Given the description of an element on the screen output the (x, y) to click on. 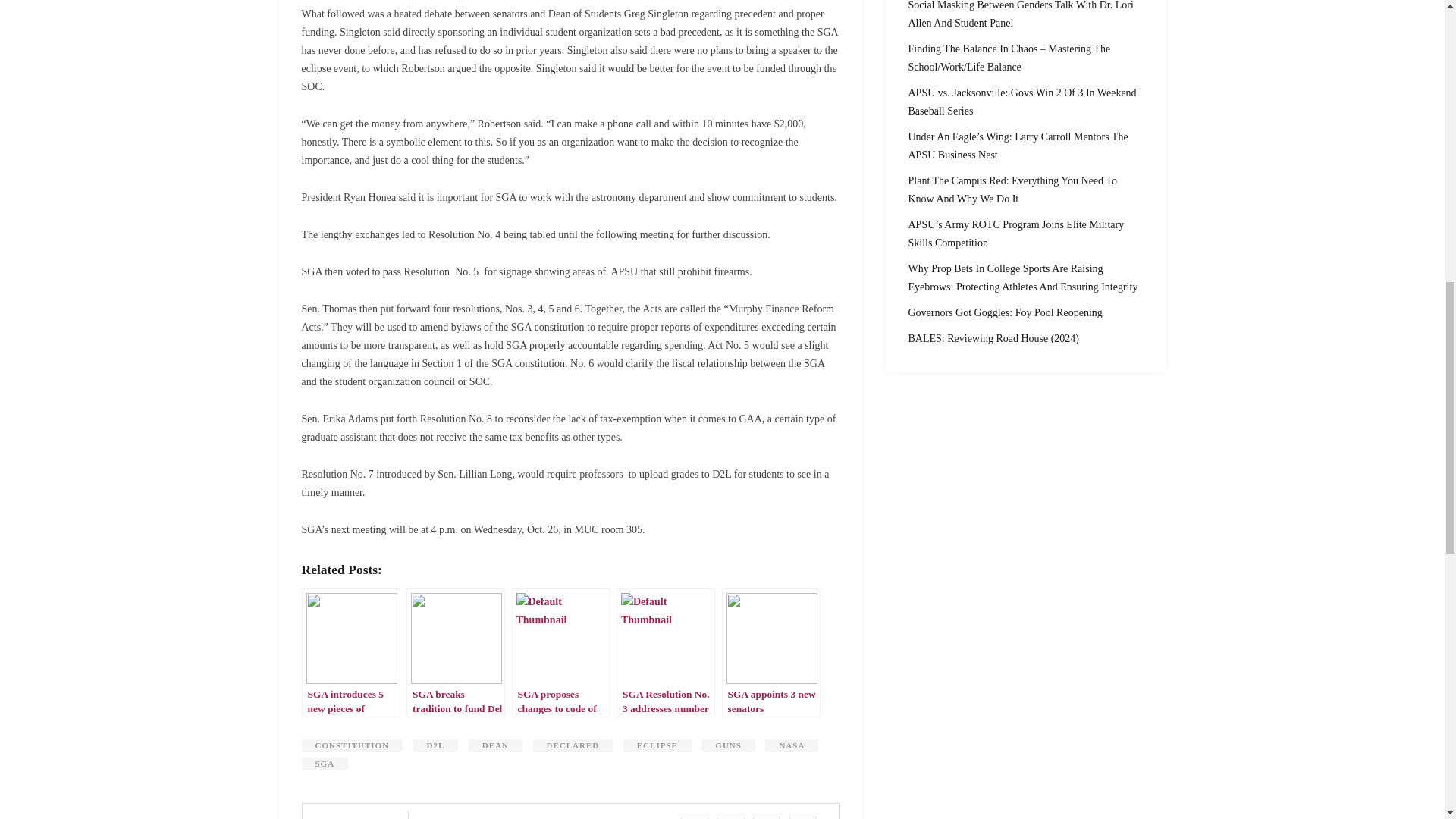
DECLARED (572, 745)
GUNS (728, 745)
CONSTITUTION (352, 745)
SGA (325, 763)
DEAN (495, 745)
NASA (791, 745)
ECLIPSE (657, 745)
D2L (435, 745)
